Given the description of an element on the screen output the (x, y) to click on. 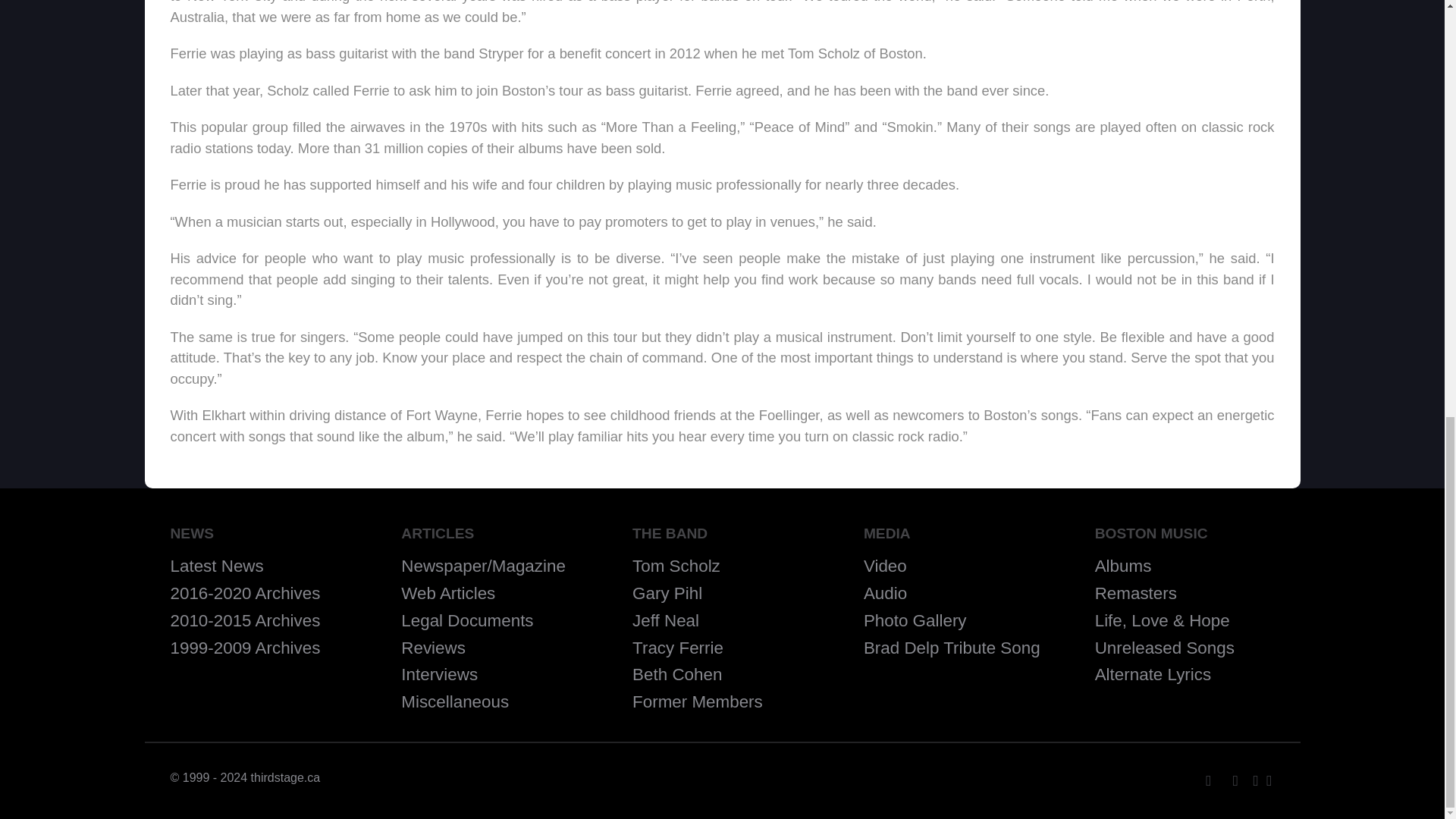
2010-2015 Archives (245, 619)
Beth Cohen (676, 674)
Video (885, 565)
Reviews (433, 647)
Miscellaneous (454, 701)
Web Articles (448, 592)
Legal Documents (466, 619)
Audio (885, 592)
Jeff Neal (664, 619)
Latest News (216, 565)
